Given the description of an element on the screen output the (x, y) to click on. 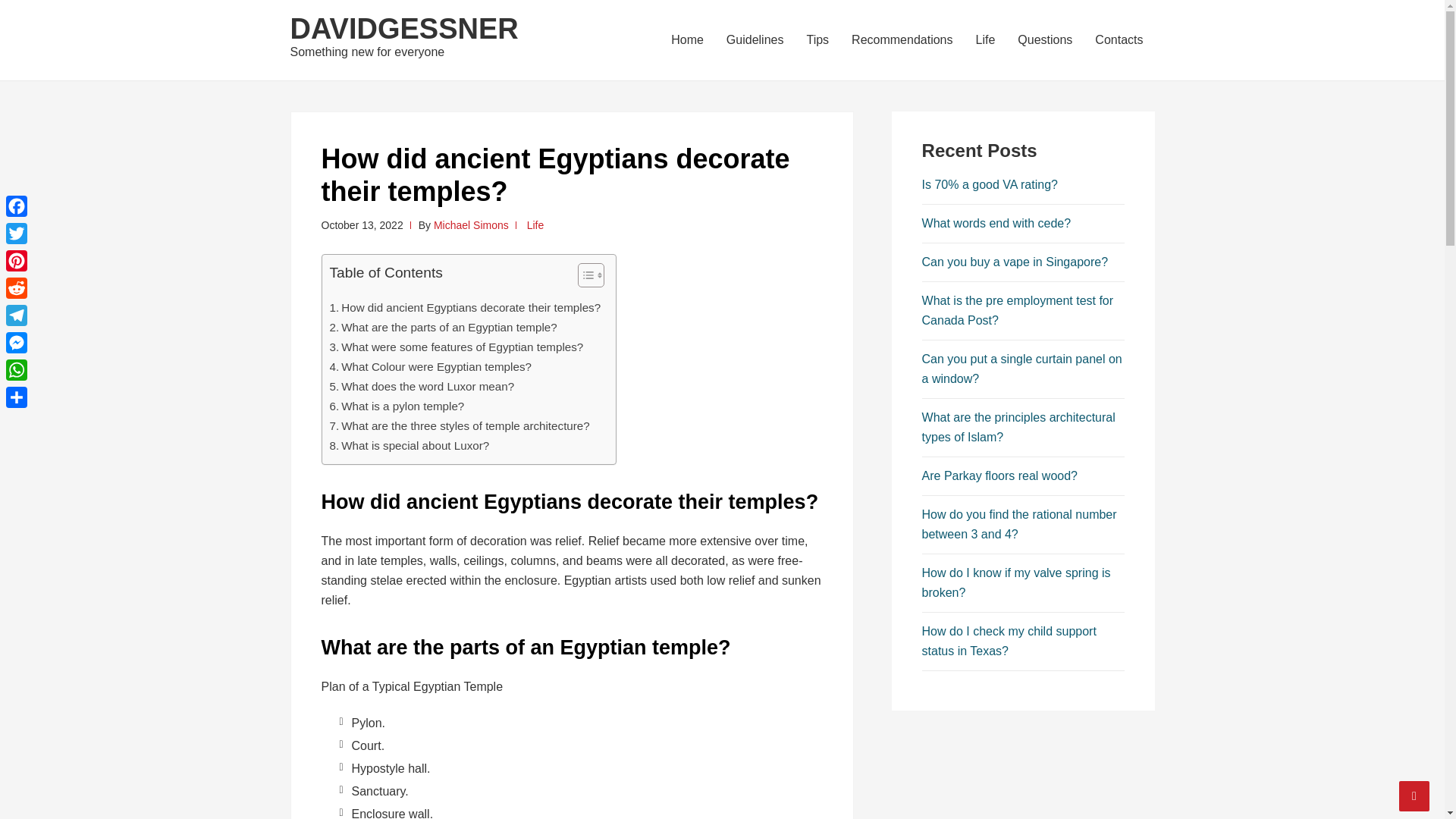
Can you put a single curtain panel on a window? (1021, 368)
What are the three styles of temple architecture? (459, 425)
What words end with cede? (996, 223)
Michael Simons (470, 224)
What are the parts of an Egyptian temple? (442, 327)
Facebook (16, 206)
How do I know if my valve spring is broken? (1015, 582)
Home (686, 39)
Pinterest (16, 260)
What does the word Luxor mean? (421, 386)
